Given the description of an element on the screen output the (x, y) to click on. 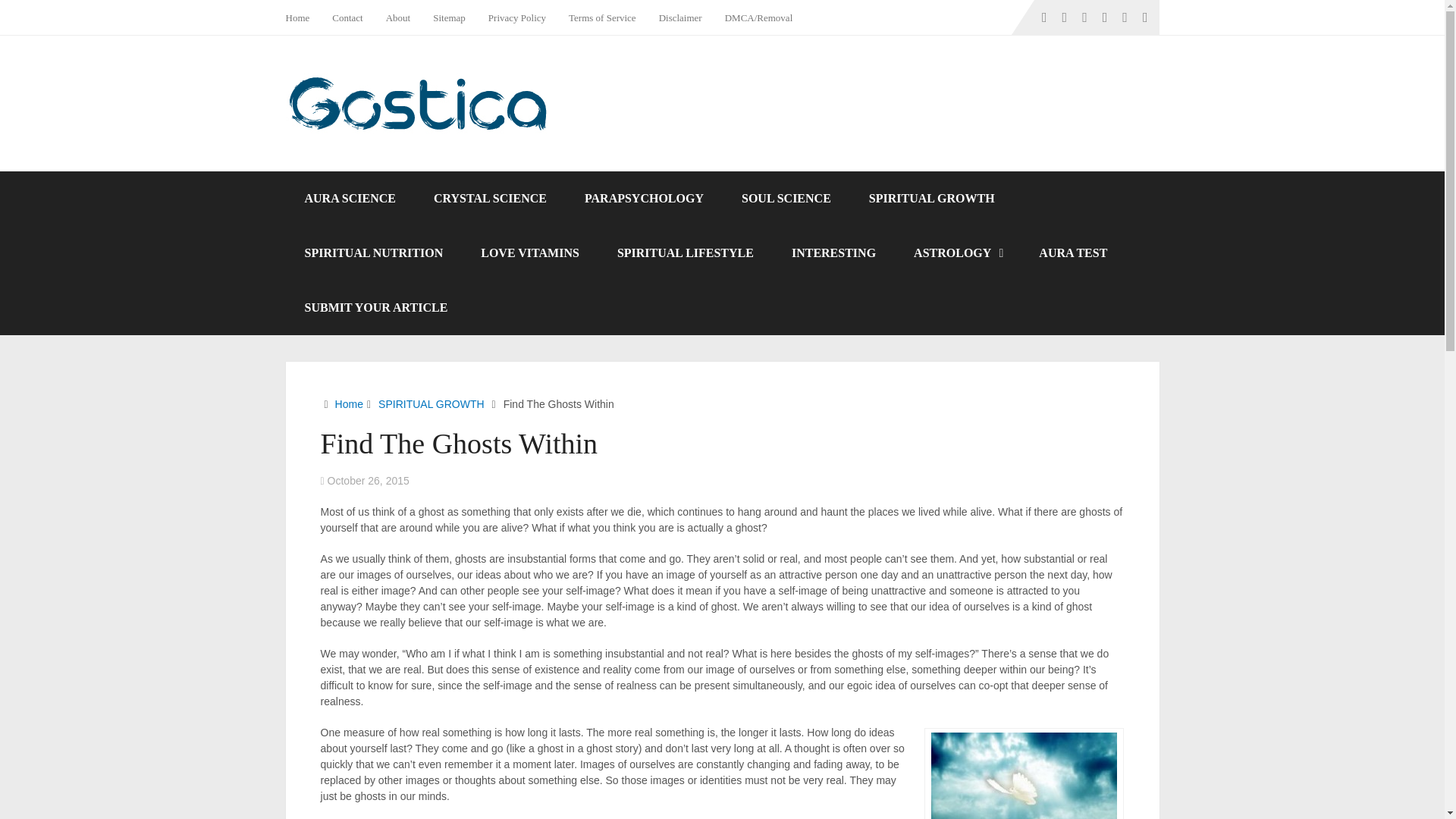
INTERESTING (834, 253)
Home (302, 17)
SPIRITUAL LIFESTYLE (685, 253)
Disclaimer (680, 17)
SPIRITUAL GROWTH (931, 198)
PARAPSYCHOLOGY (644, 198)
About (398, 17)
ASTROLOGY (957, 253)
Sitemap (449, 17)
LOVE VITAMINS (529, 253)
